Given the description of an element on the screen output the (x, y) to click on. 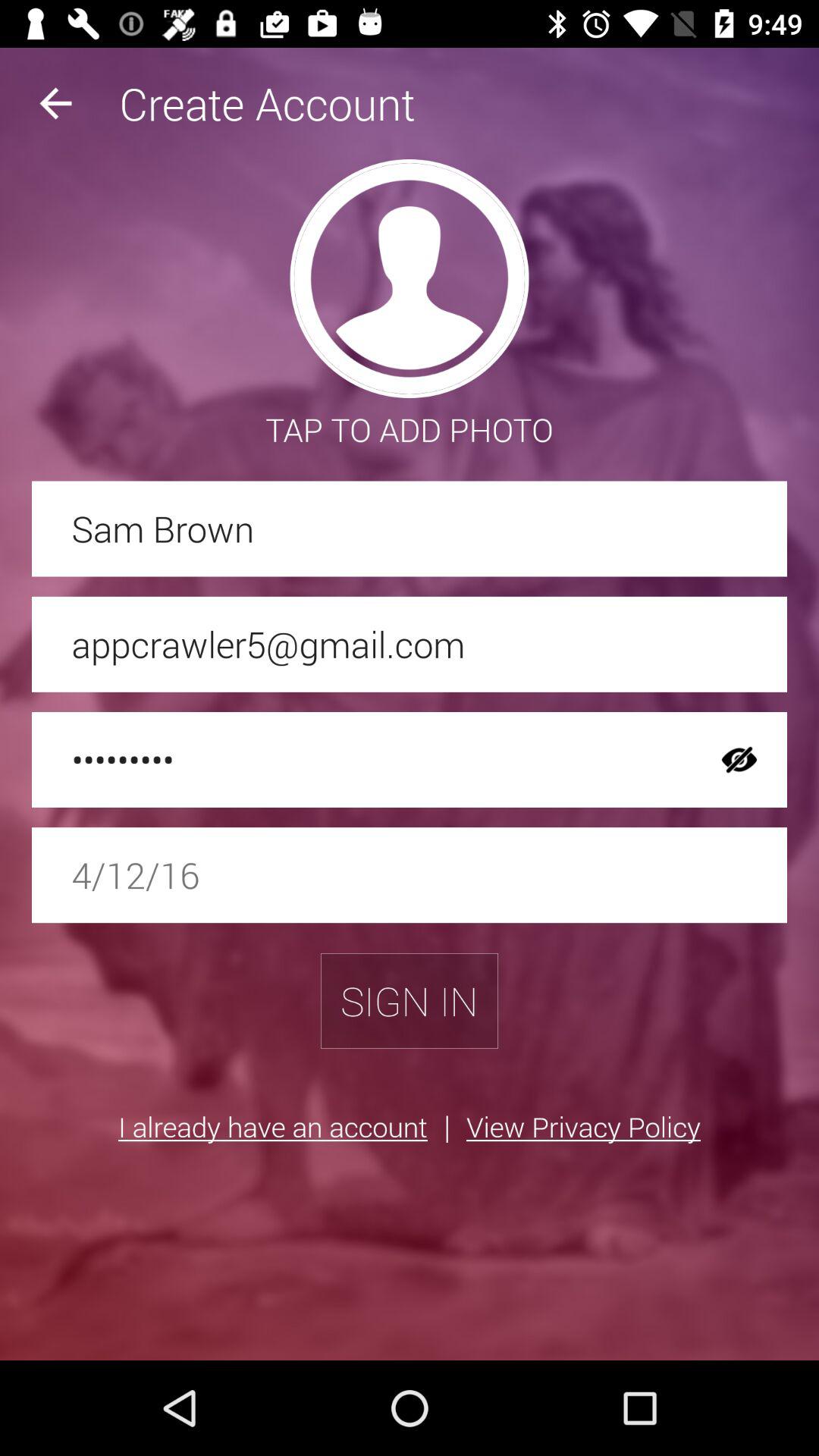
jump until the sign in icon (409, 1000)
